Given the description of an element on the screen output the (x, y) to click on. 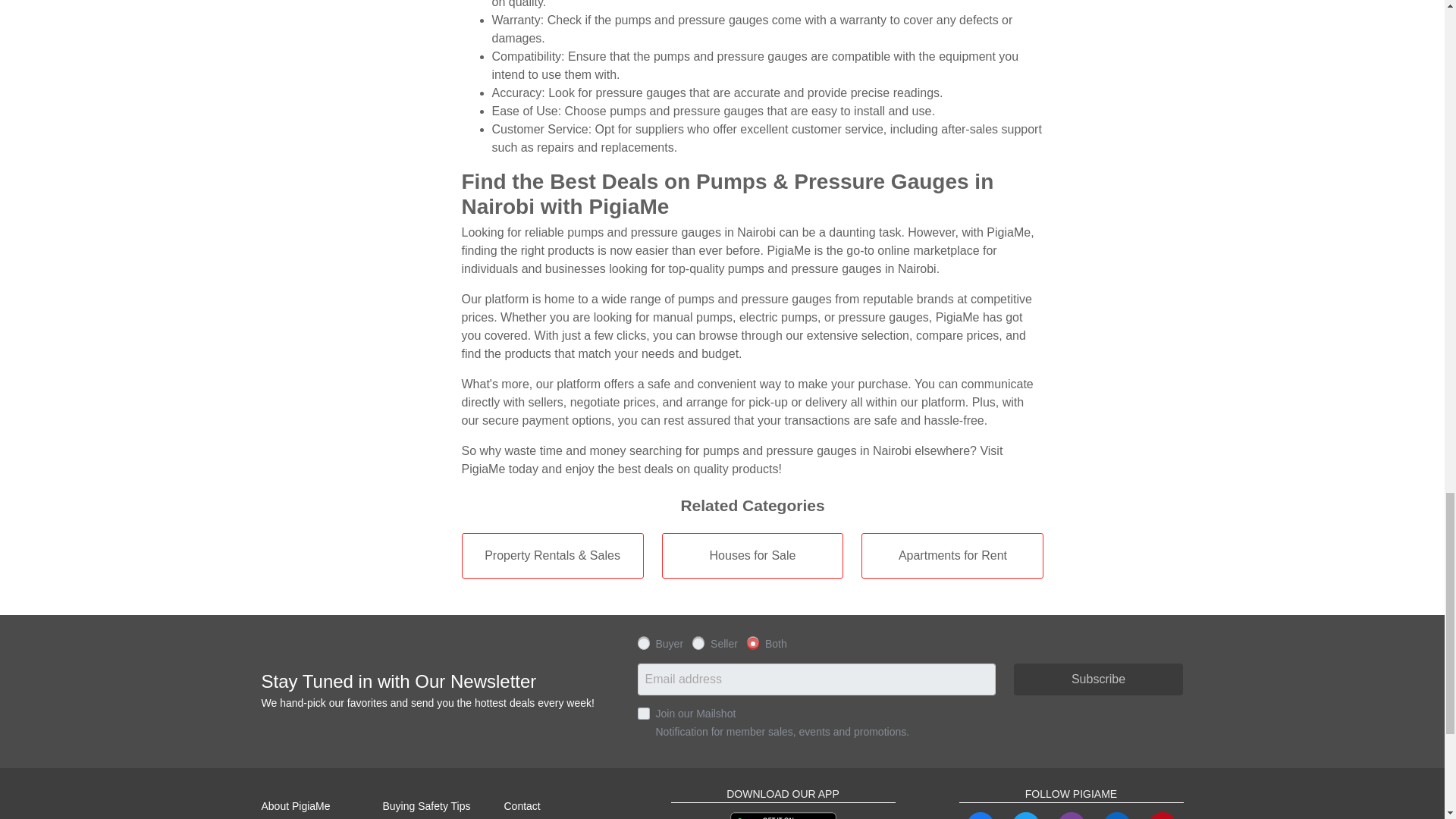
1 (643, 713)
both (752, 642)
user (643, 642)
advertiser (698, 642)
